Given the description of an element on the screen output the (x, y) to click on. 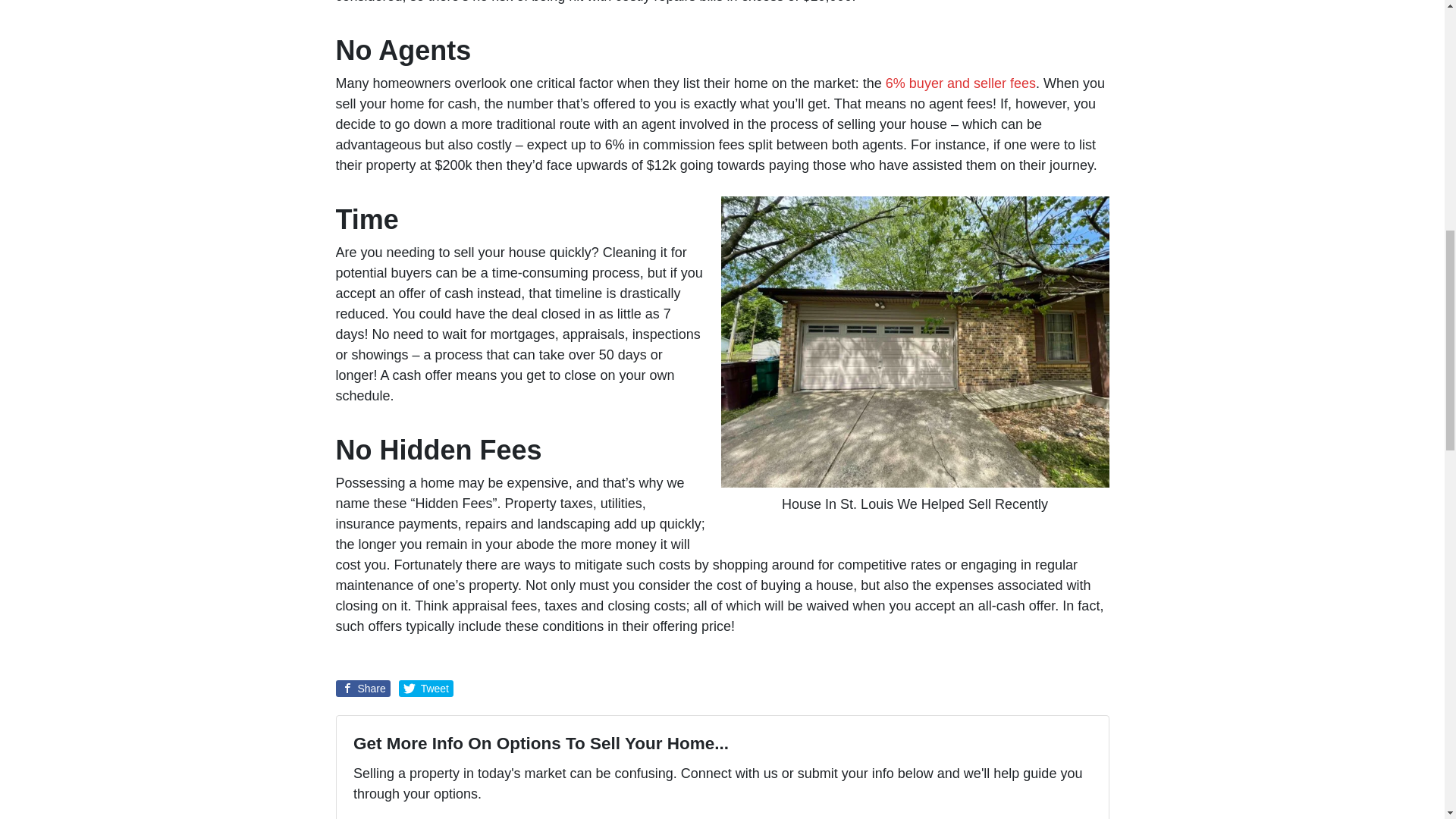
Share (362, 688)
Tweet (425, 688)
